Given the description of an element on the screen output the (x, y) to click on. 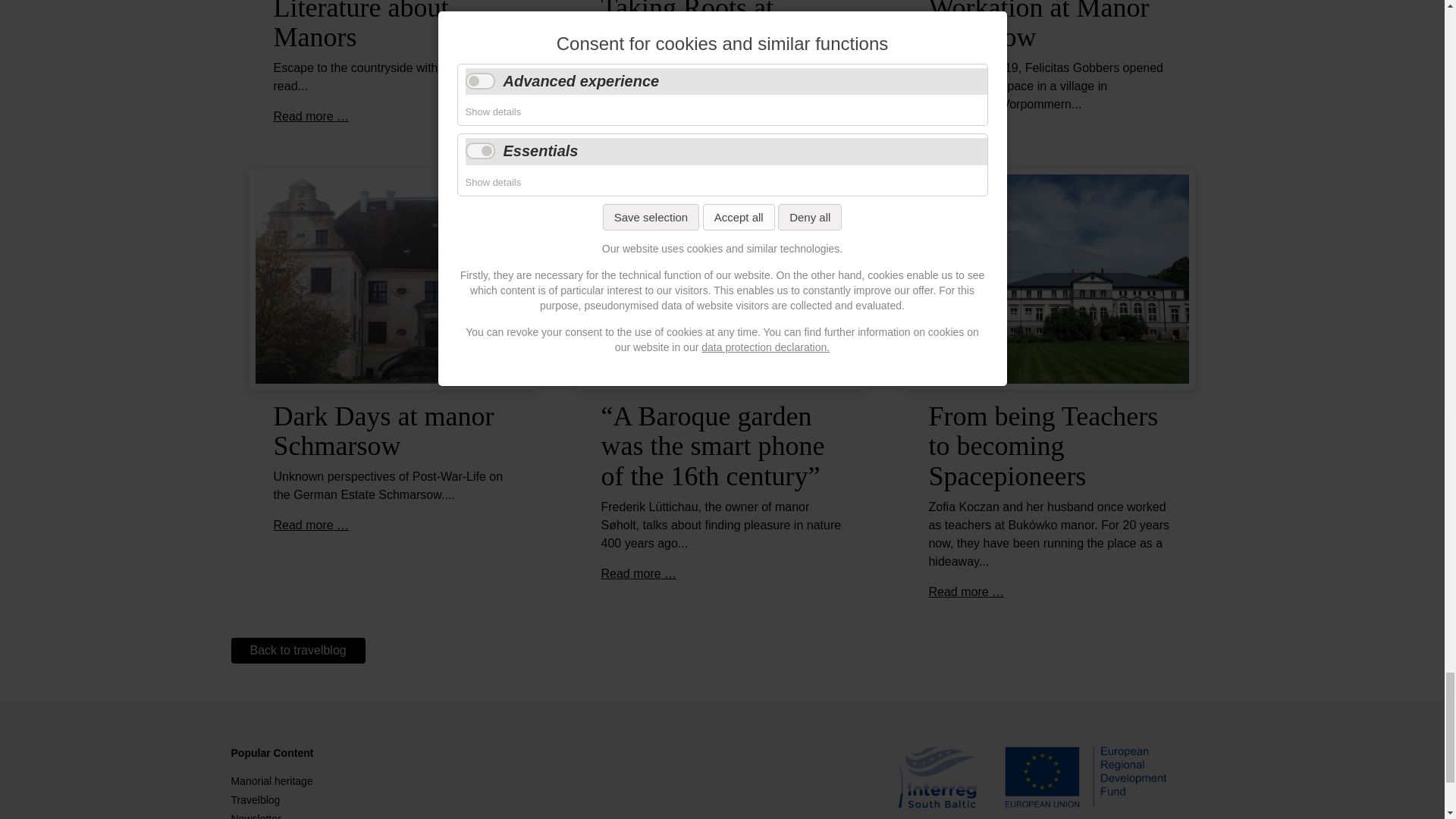
Literature about Manors (360, 26)
